Given the description of an element on the screen output the (x, y) to click on. 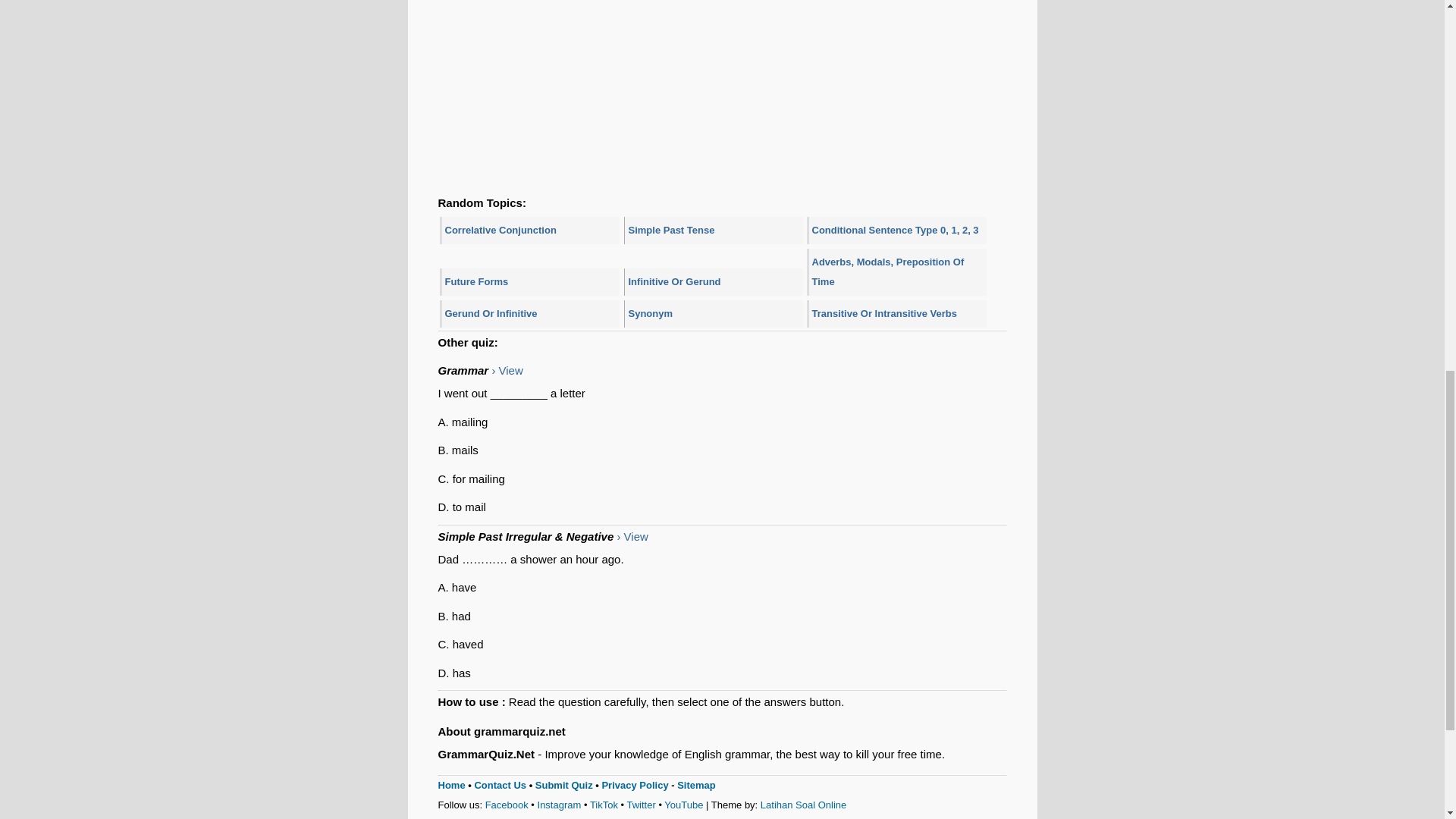
Home (451, 785)
Gerund Or Infinitive (528, 313)
YouTube (683, 804)
Sitemap (696, 785)
Future Forms (528, 281)
Advertisement (722, 29)
Adverbs, Modals, Preposition Of Time (895, 271)
Instagram (558, 804)
Simple Past Tense (712, 230)
Conditional Sentence Type 0, 1, 2, 3 (895, 230)
